Given the description of an element on the screen output the (x, y) to click on. 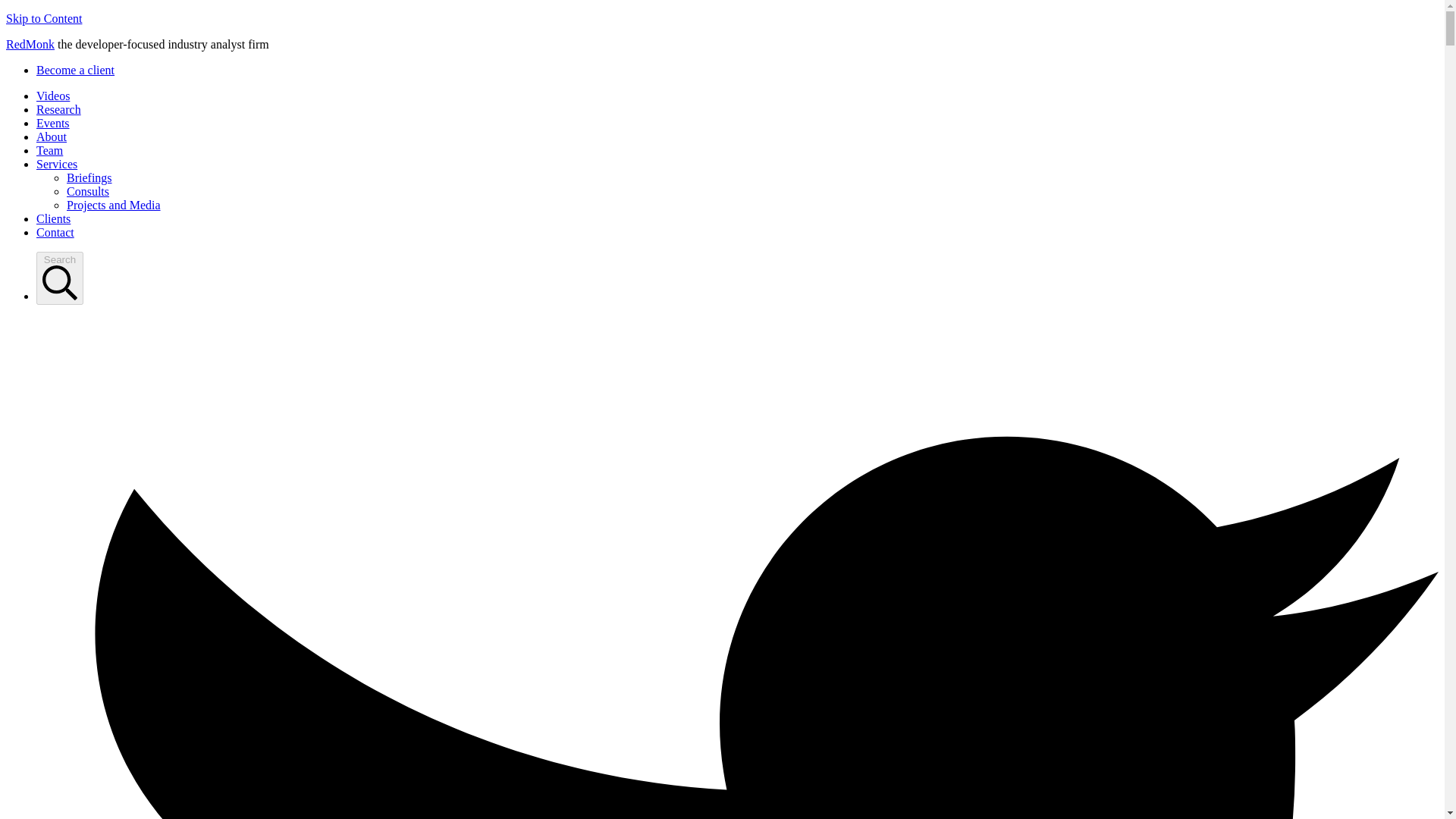
Contact (55, 232)
Become a client (75, 69)
Team (49, 150)
Clients (52, 218)
Services (56, 164)
Projects and Media (113, 205)
Consults (87, 191)
Events (52, 123)
Skip to Content (43, 18)
Briefings (89, 177)
About (51, 136)
RedMonk (30, 43)
Research (58, 109)
Videos (52, 95)
